Given the description of an element on the screen output the (x, y) to click on. 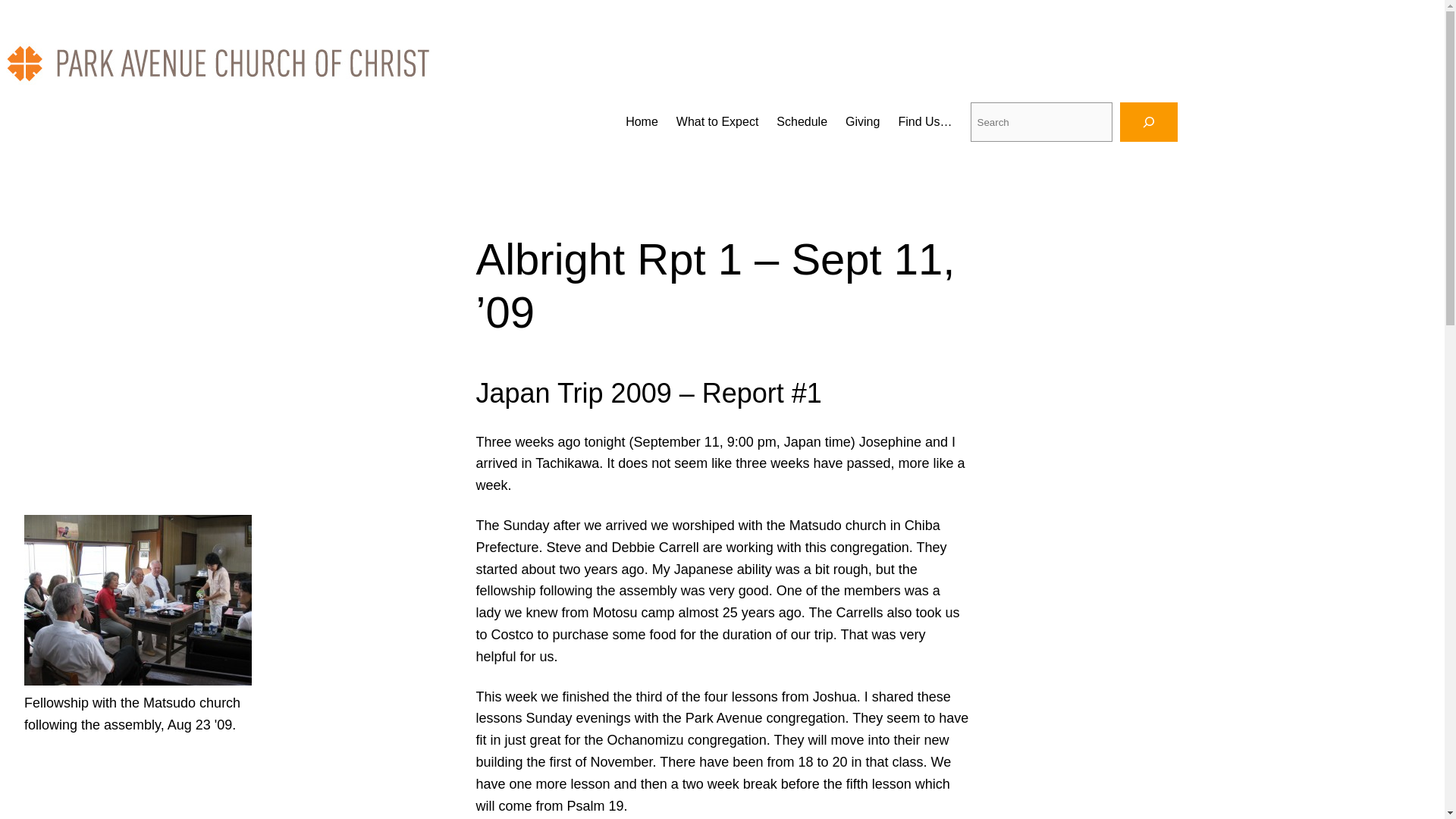
What to Expect (717, 121)
Home (642, 121)
Convert this amount (730, 612)
Giving (862, 121)
Schedule (801, 121)
